Given the description of an element on the screen output the (x, y) to click on. 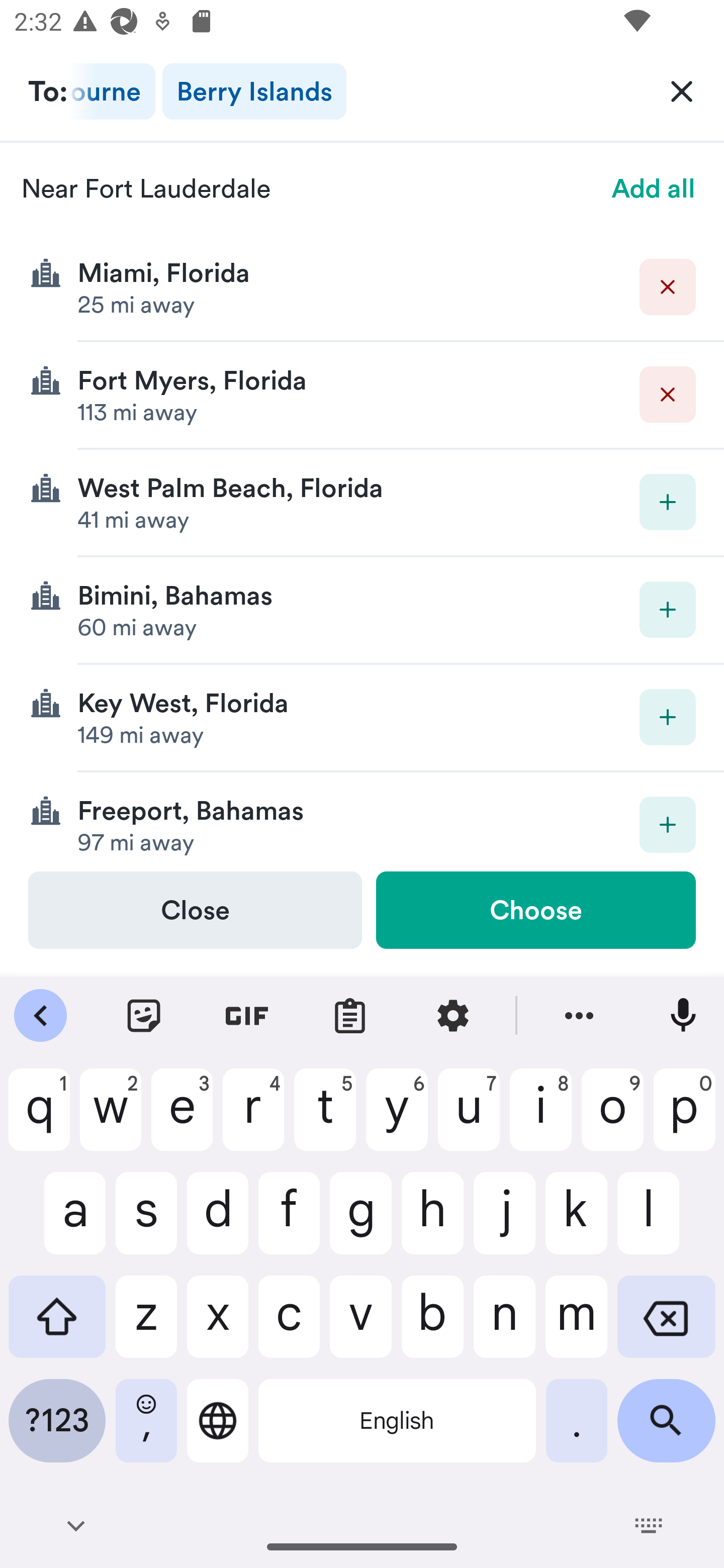
Clear All (681, 90)
Melbourne (111, 91)
Berry Islands (254, 91)
Add all (653, 187)
Delete Miami, Florida 25 mi away (362, 287)
Delete (667, 286)
Delete Fort Myers, Florida 113 mi away (362, 395)
Delete (667, 394)
Add destination (667, 501)
Add destination Bimini, Bahamas 60 mi away (362, 610)
Add destination (667, 609)
Add destination Key West, Florida 149 mi away (362, 717)
Add destination (667, 716)
Add destination Freeport, Bahamas 97 mi away (362, 821)
Add destination (667, 824)
Close (195, 909)
Choose (535, 909)
